Given the description of an element on the screen output the (x, y) to click on. 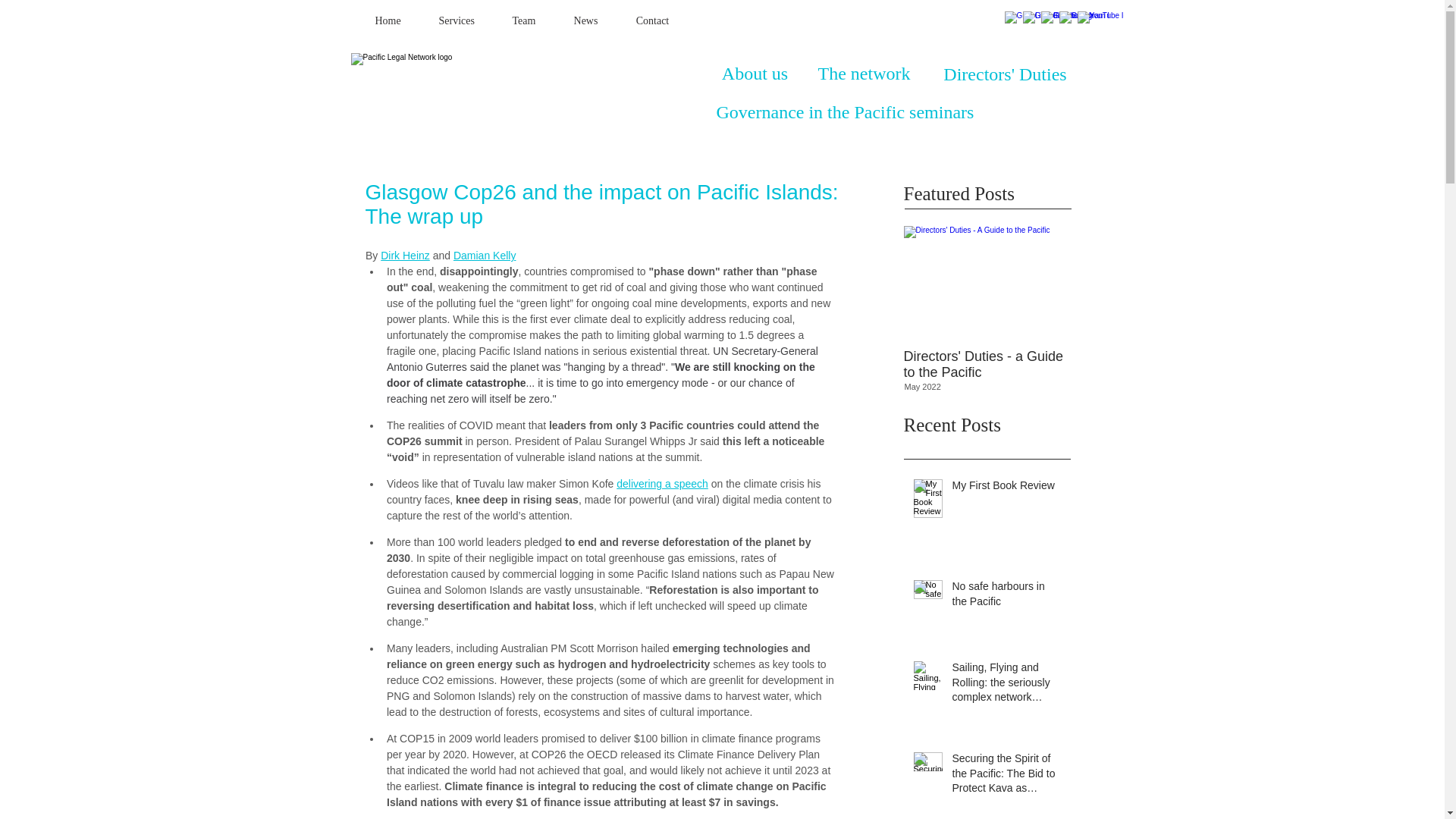
About us (754, 73)
Home (388, 21)
News (585, 21)
No safe harbours in the Pacific (1006, 597)
Contact (652, 21)
Pacific Legal Network logo.png (514, 73)
Damian Kelly (483, 255)
Governance in the Pacific seminars (845, 112)
Services (456, 21)
Directors' Duties - a Guide to the Pacific (984, 364)
Dirk Heinz (404, 255)
The network (863, 73)
Team (523, 21)
